Given the description of an element on the screen output the (x, y) to click on. 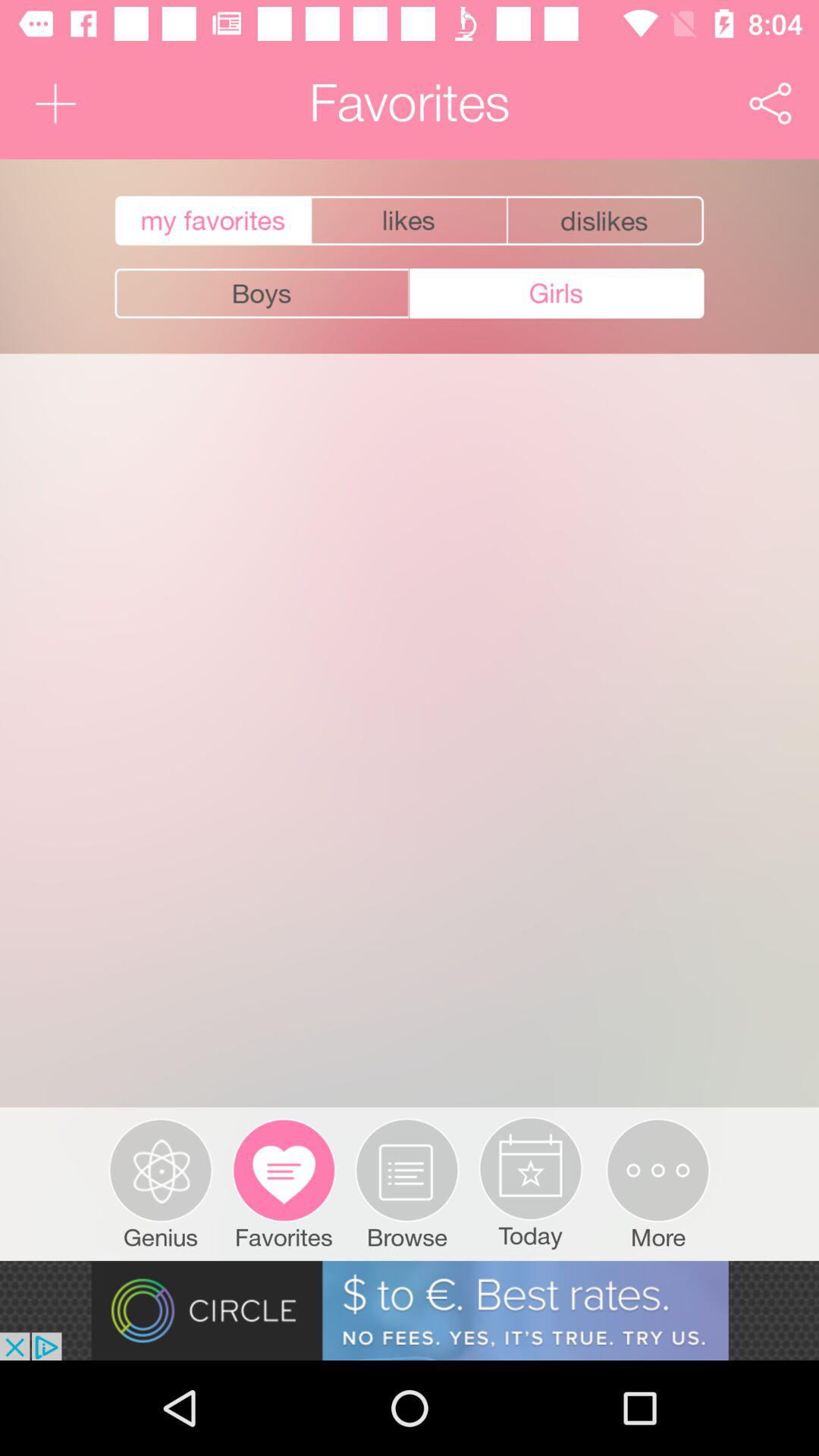
open dislikes (606, 220)
